Given the description of an element on the screen output the (x, y) to click on. 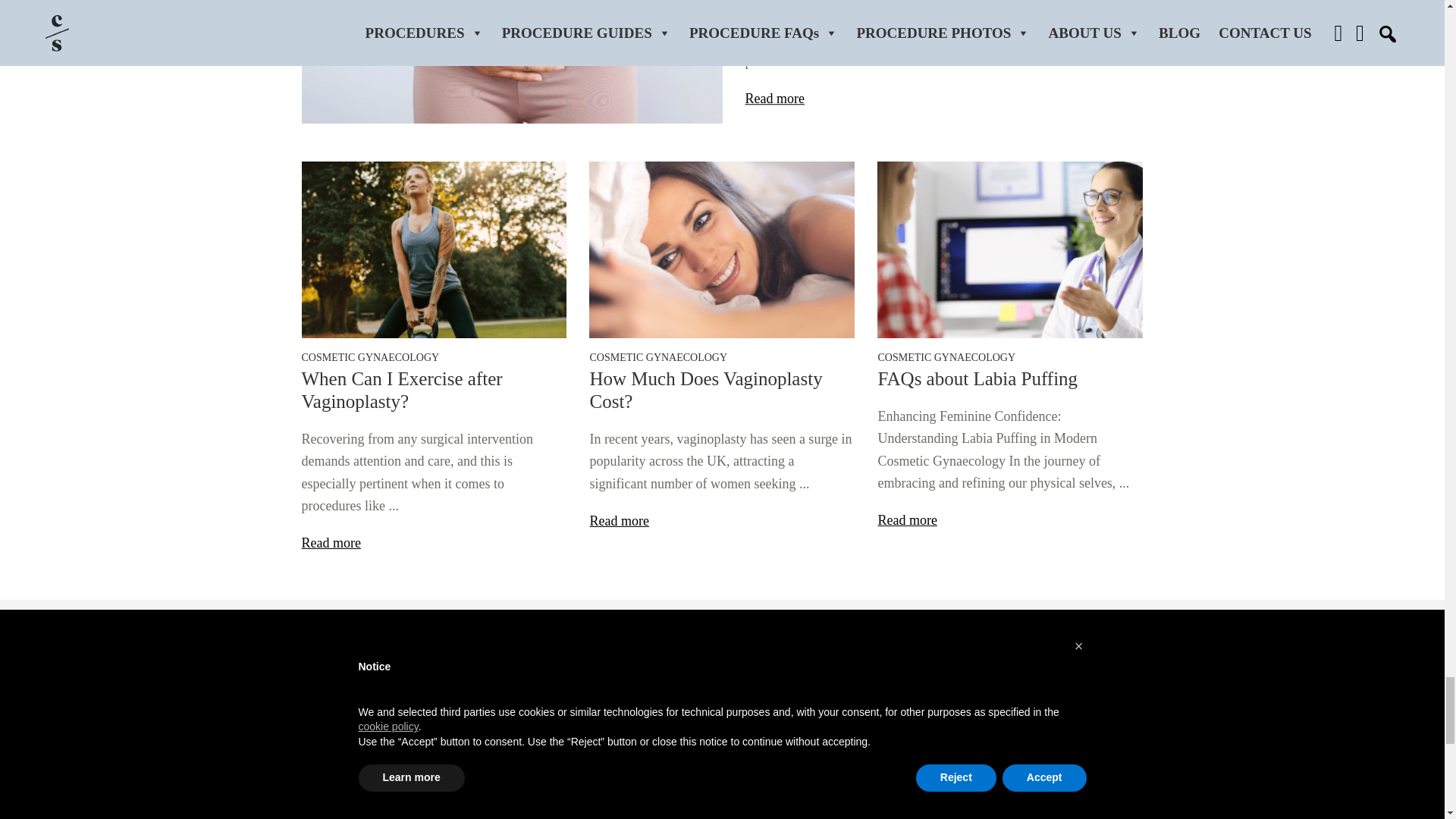
1 (1006, 692)
